Given the description of an element on the screen output the (x, y) to click on. 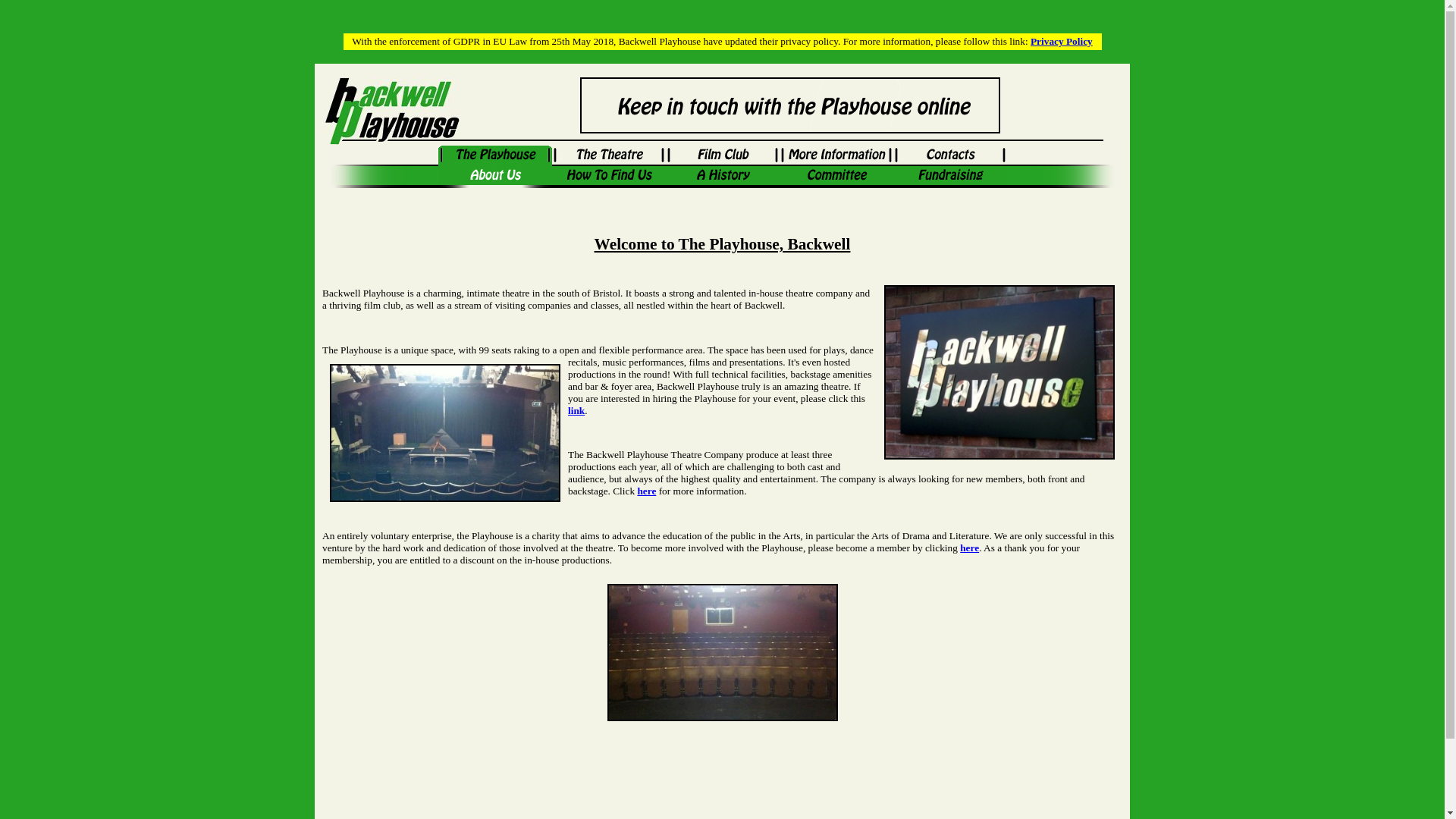
link (576, 410)
here (968, 547)
here (646, 490)
Privacy Policy (1061, 41)
